Given the description of an element on the screen output the (x, y) to click on. 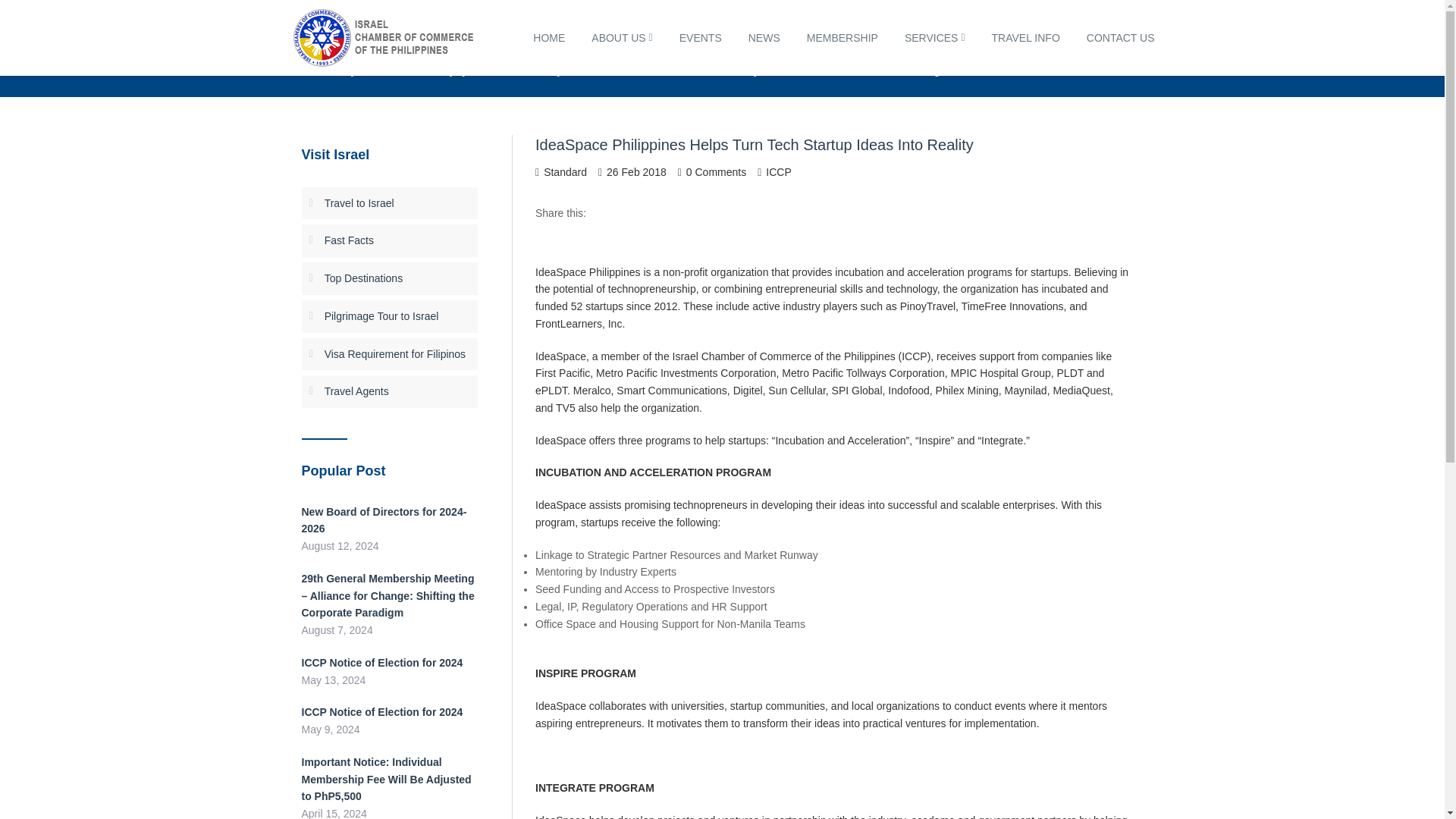
Visa Requirement for Filipinos (394, 354)
Travel to Israel (359, 203)
Fast Facts (349, 240)
CONTACT US (1120, 38)
TRAVEL INFO (1025, 38)
Home (974, 64)
Primer (1032, 64)
Pilgrimage Tour to Israel (381, 316)
MEMBERSHIP (841, 38)
